Given the description of an element on the screen output the (x, y) to click on. 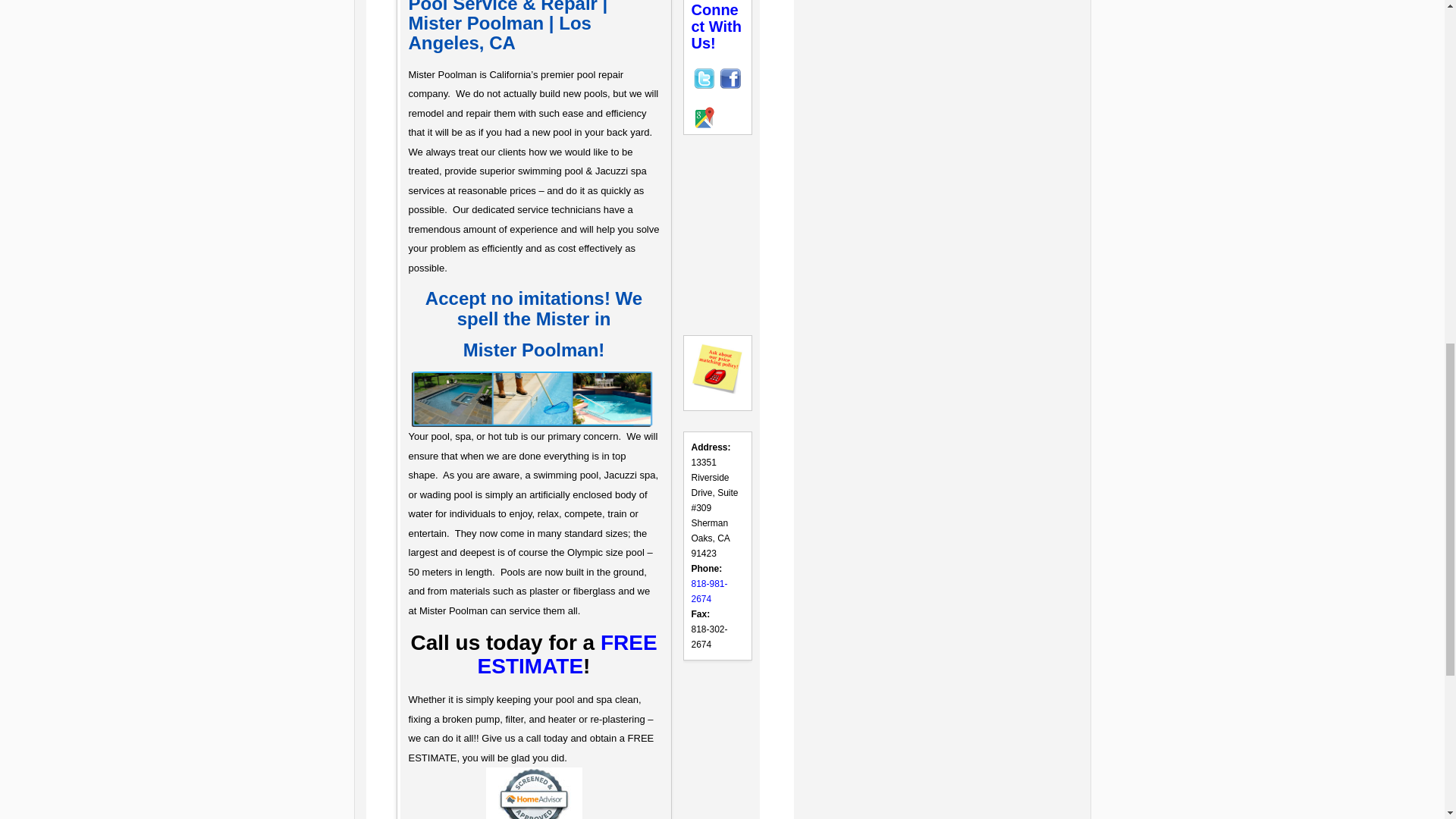
seal (532, 793)
h123 (533, 398)
